Given the description of an element on the screen output the (x, y) to click on. 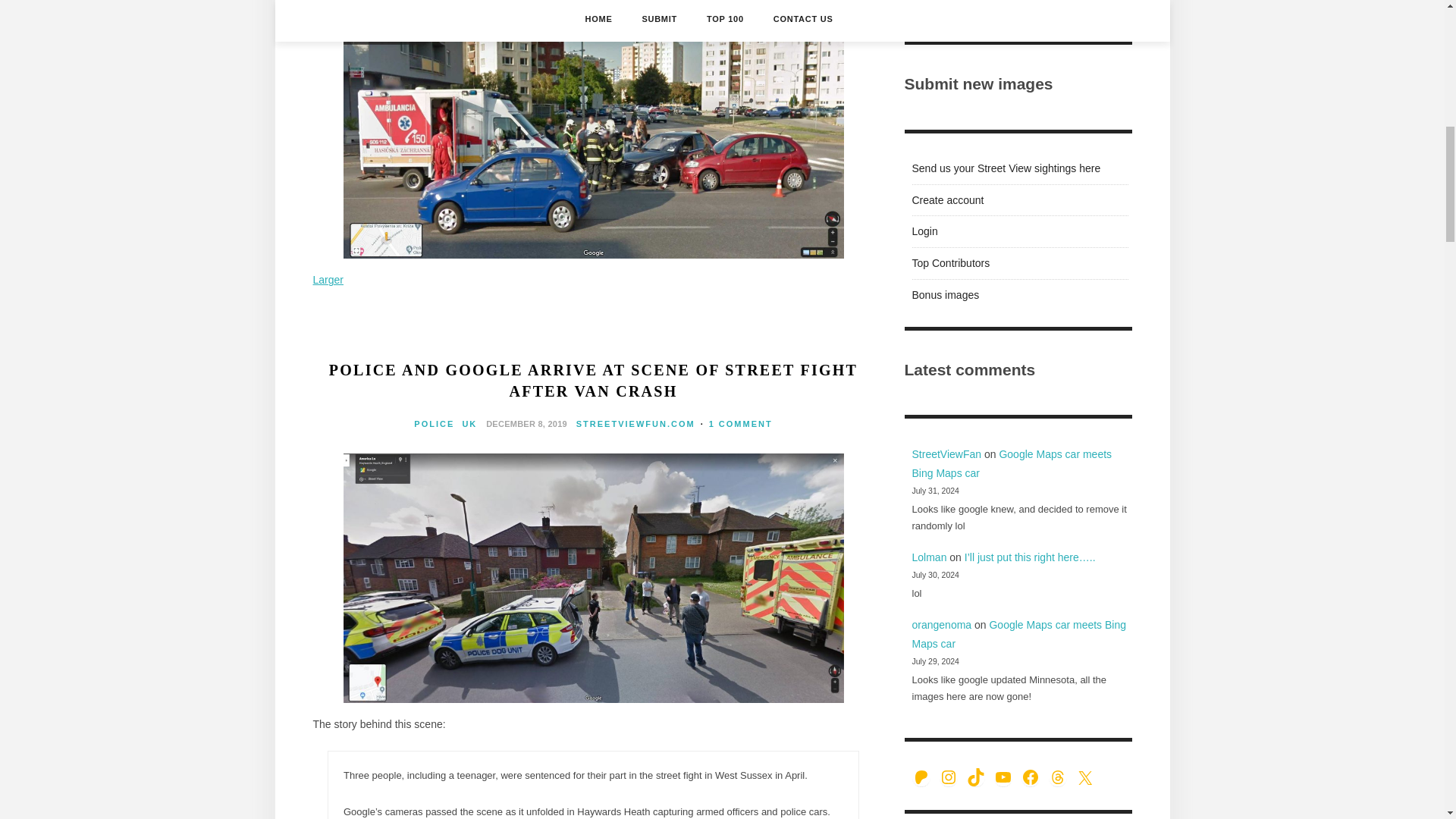
UK (469, 423)
Posts by StreetViewFun.com (635, 423)
POLICE (433, 423)
STREETVIEWFUN.COM (635, 423)
1 COMMENT (741, 423)
Larger (327, 279)
DECEMBER 8, 2019 (525, 422)
